Given the description of an element on the screen output the (x, y) to click on. 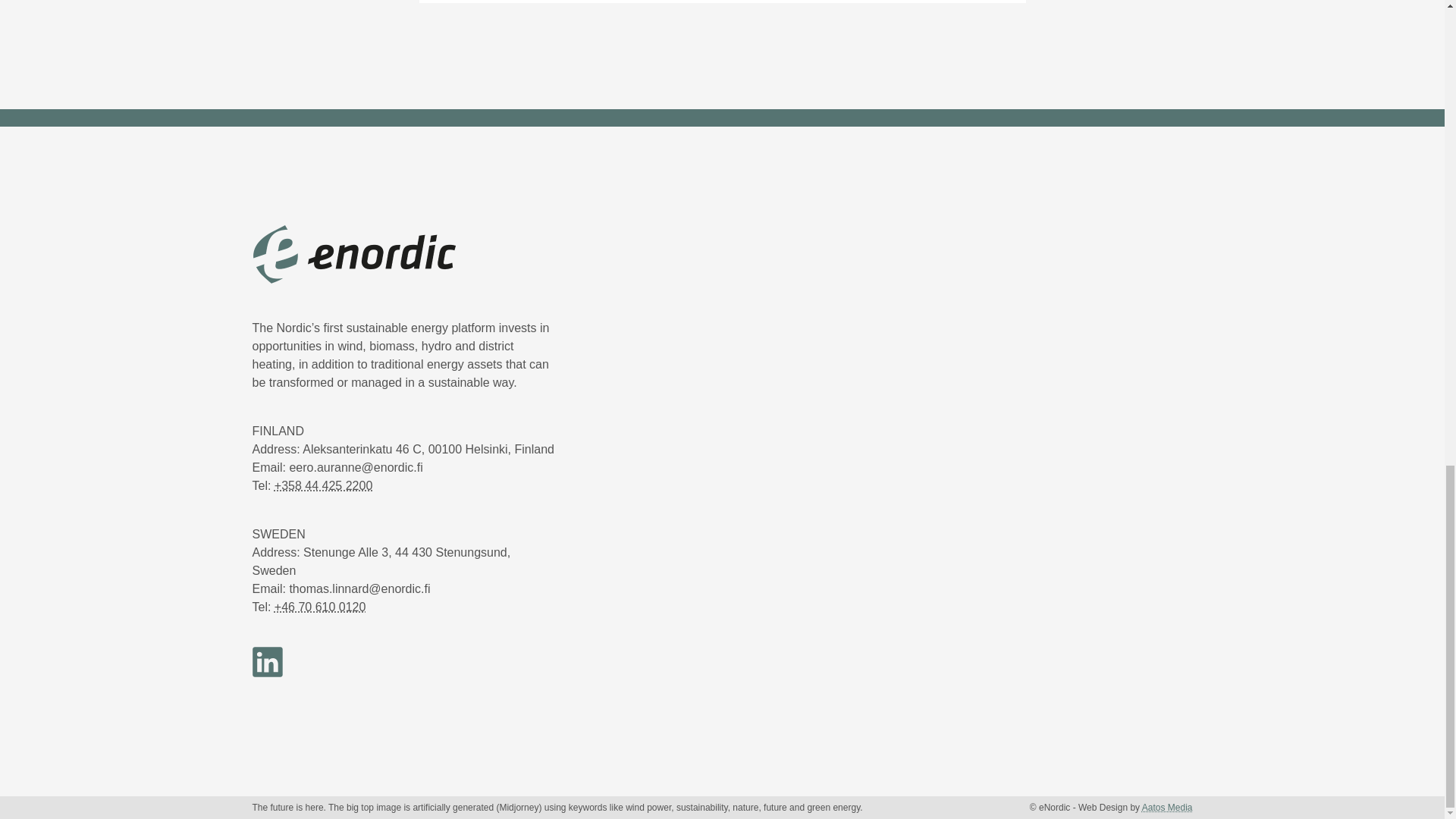
eNordic LinkedIn (274, 672)
Aatos Media (1166, 807)
